Given the description of an element on the screen output the (x, y) to click on. 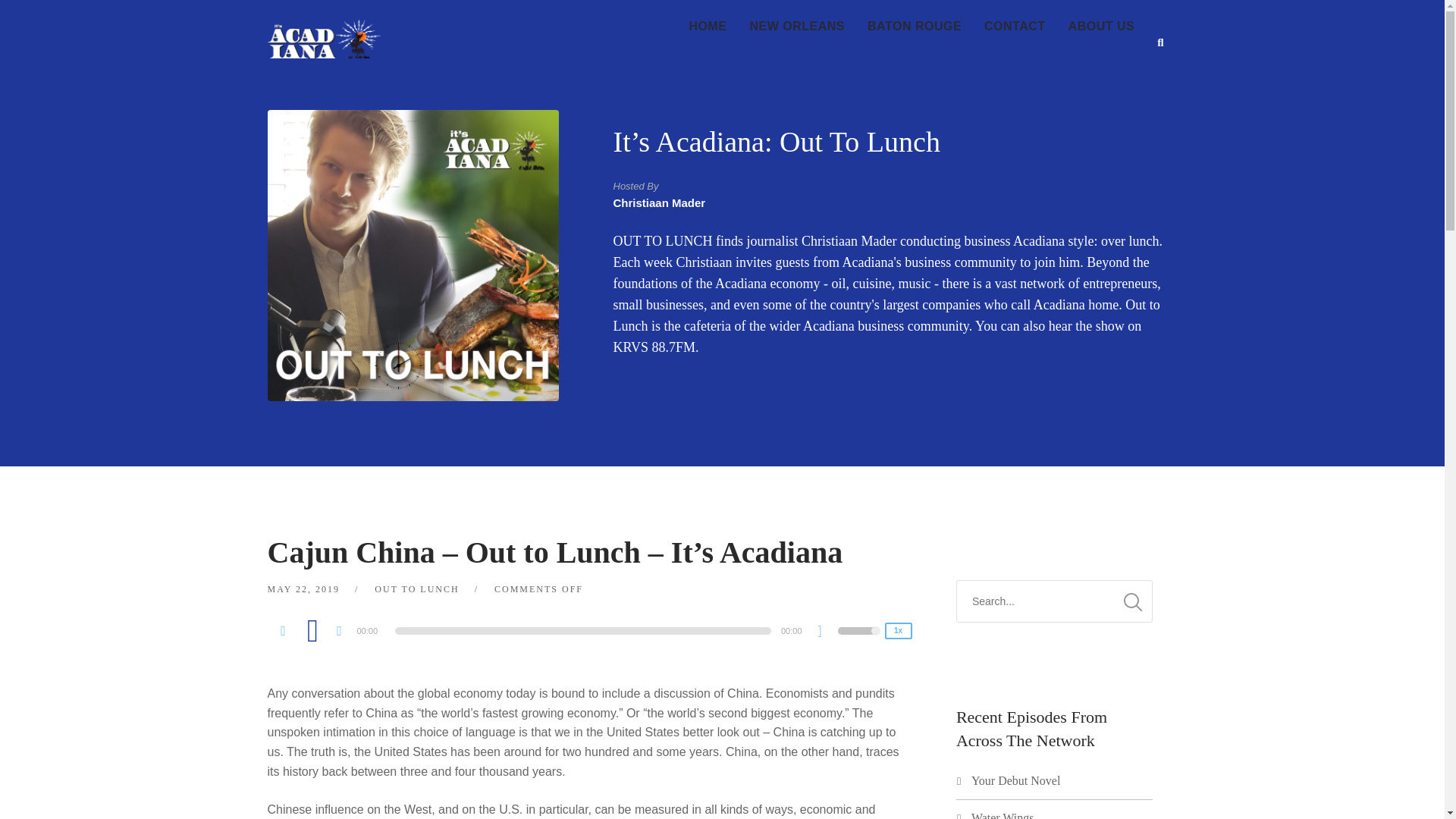
Speed Rate (897, 630)
Your Debut Novel (1015, 780)
CONTACT (1014, 26)
Mute (824, 632)
ABOUT US (1102, 26)
OUT TO LUNCH (416, 588)
BATON ROUGE (914, 26)
HOME (708, 26)
Submit (32, 22)
It's Acadiana (323, 29)
